Given the description of an element on the screen output the (x, y) to click on. 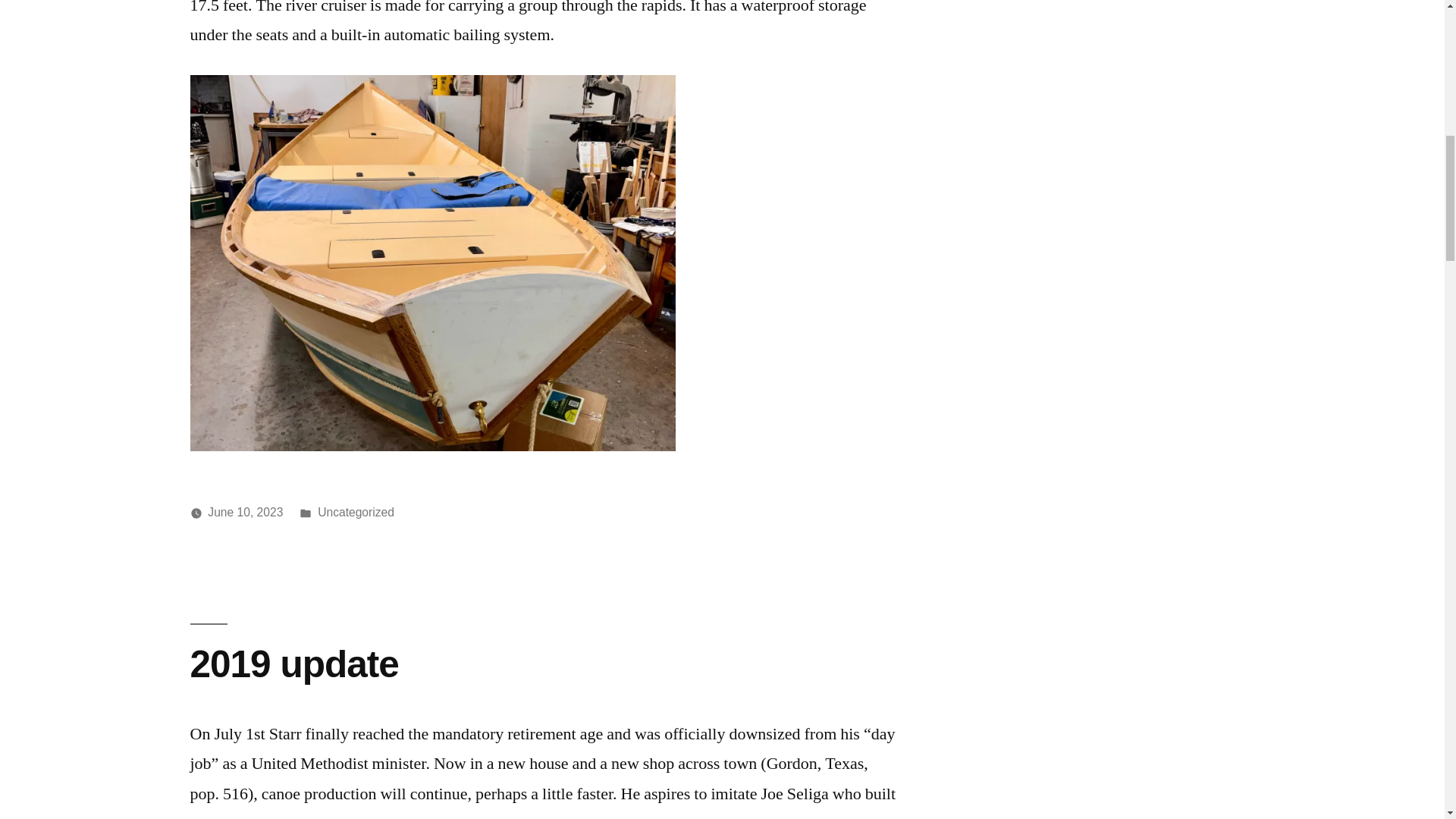
2019 update (293, 663)
June 10, 2023 (245, 512)
Uncategorized (355, 512)
